Given the description of an element on the screen output the (x, y) to click on. 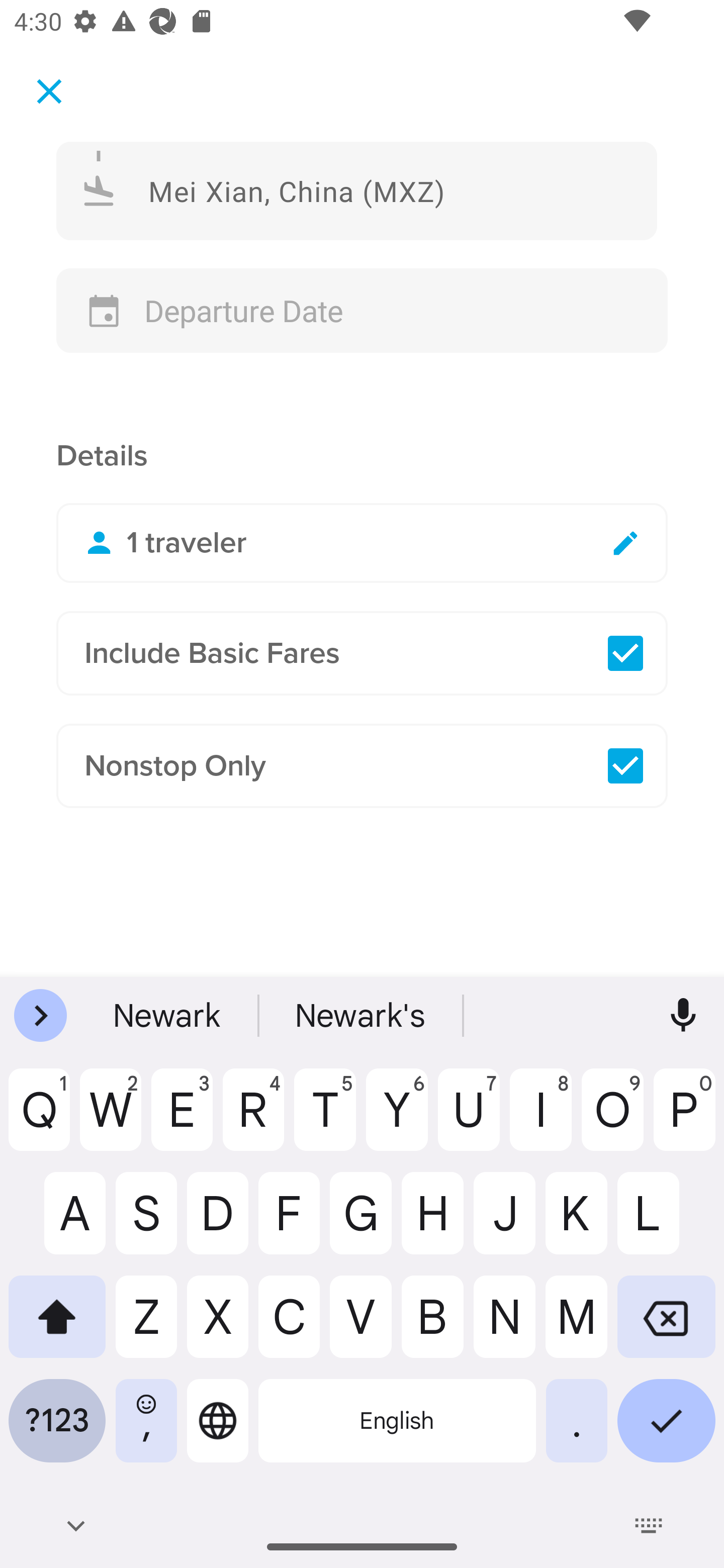
Cancel (49, 90)
Mei Xian, China (MXZ) (356, 190)
Departure Date (361, 310)
1 traveler Edit Travelers (361, 542)
Include Basic Fares (361, 653)
Nonstop Only (361, 765)
